Given the description of an element on the screen output the (x, y) to click on. 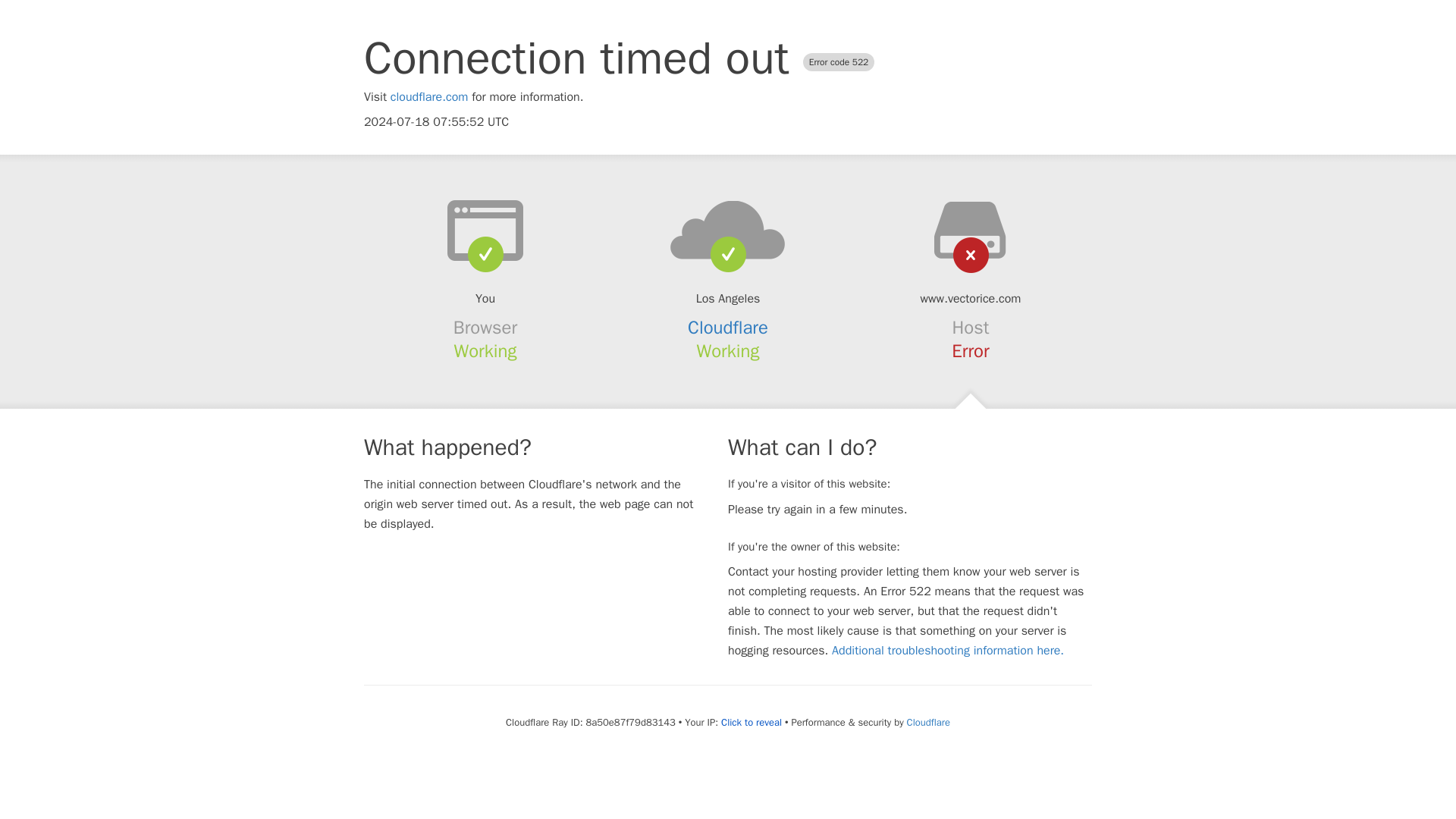
Click to reveal (750, 722)
Cloudflare (727, 327)
Cloudflare (928, 721)
Additional troubleshooting information here. (947, 650)
cloudflare.com (429, 96)
